Given the description of an element on the screen output the (x, y) to click on. 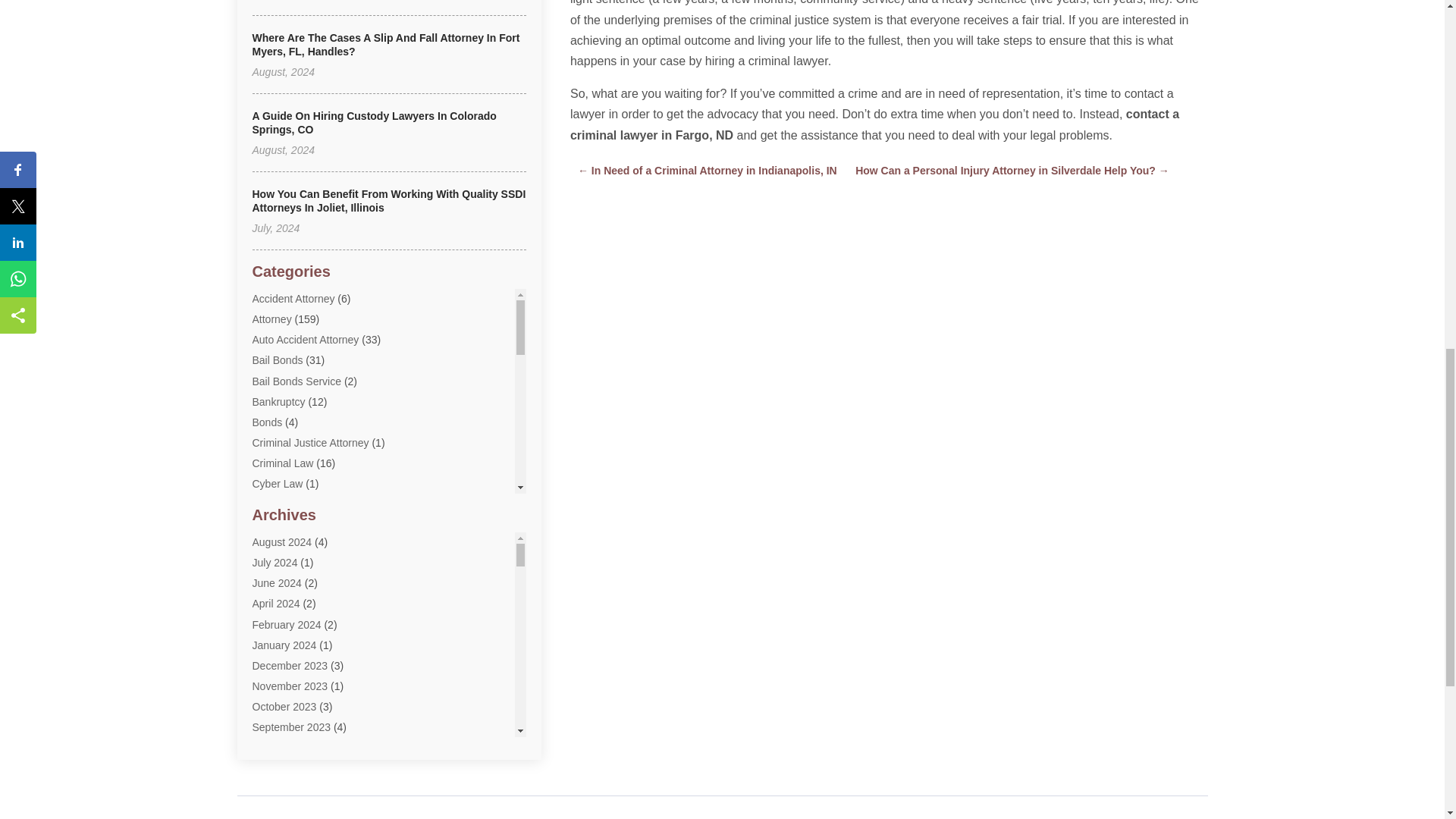
Employment Law (292, 586)
Family Law (278, 607)
Bonds (266, 422)
Dui Law Attorneys (294, 545)
Criminal Law (282, 463)
Accident Attorney (292, 298)
Bail Bonds Service (295, 381)
Bail Bonds (276, 359)
